Given the description of an element on the screen output the (x, y) to click on. 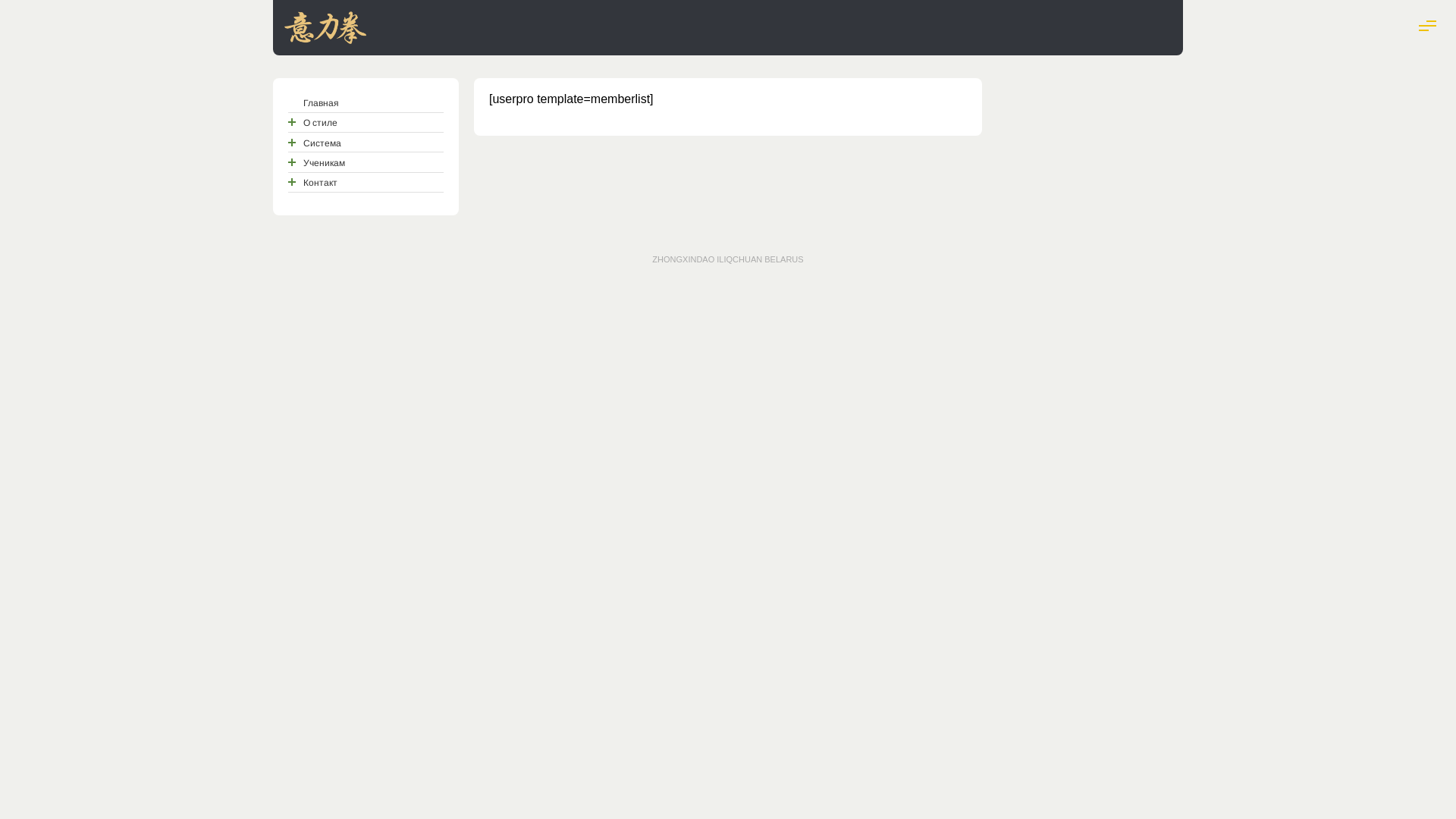
The Martial Art of Awareness Element type: hover (325, 36)
